Given the description of an element on the screen output the (x, y) to click on. 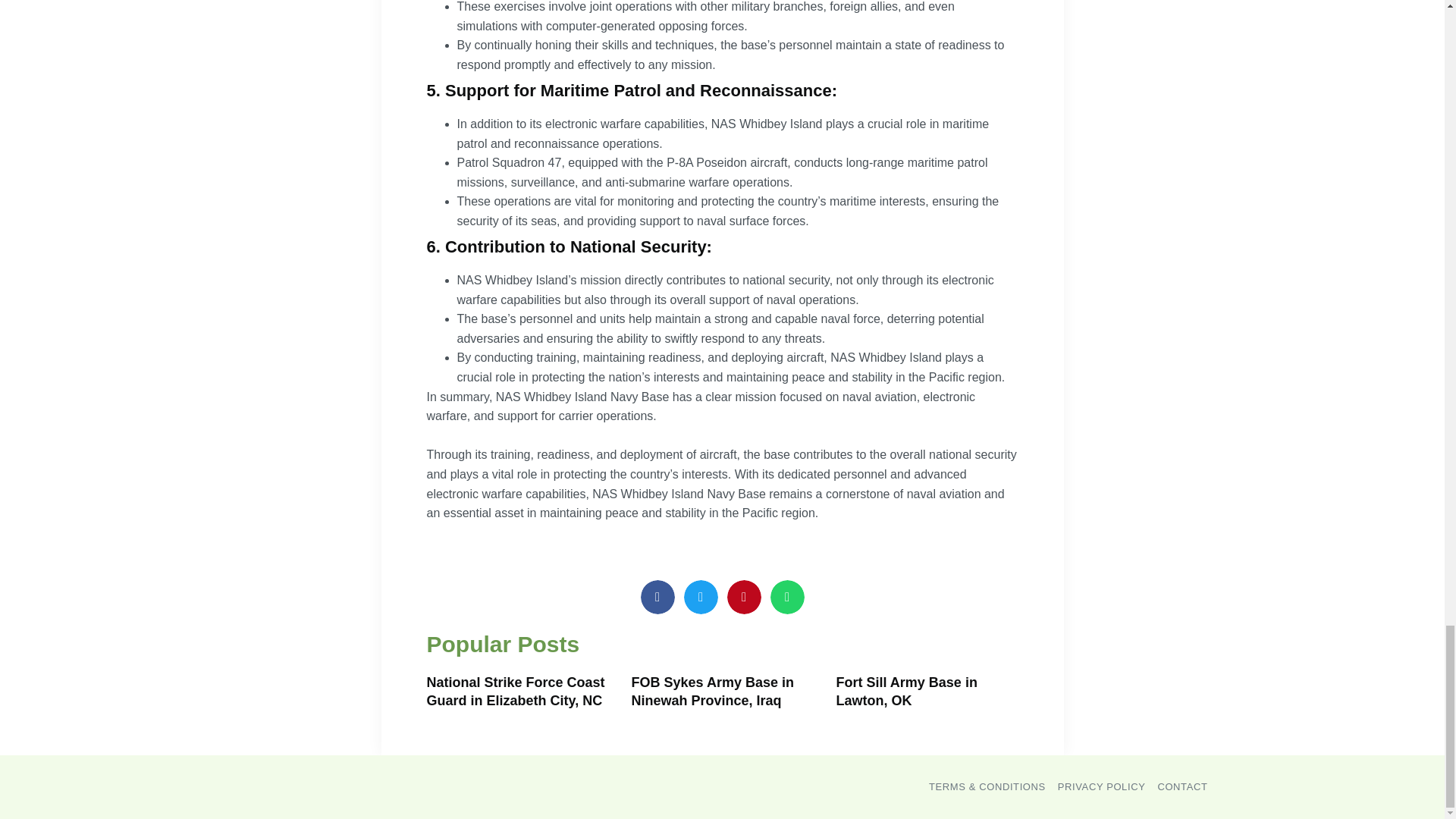
PRIVACY POLICY (1101, 786)
Fort Sill Army Base in Lawton, OK (905, 690)
National Strike Force Coast Guard in Elizabeth City, NC (515, 690)
FOB Sykes Army Base in Ninewah Province, Iraq (711, 690)
CONTACT (1182, 786)
